Given the description of an element on the screen output the (x, y) to click on. 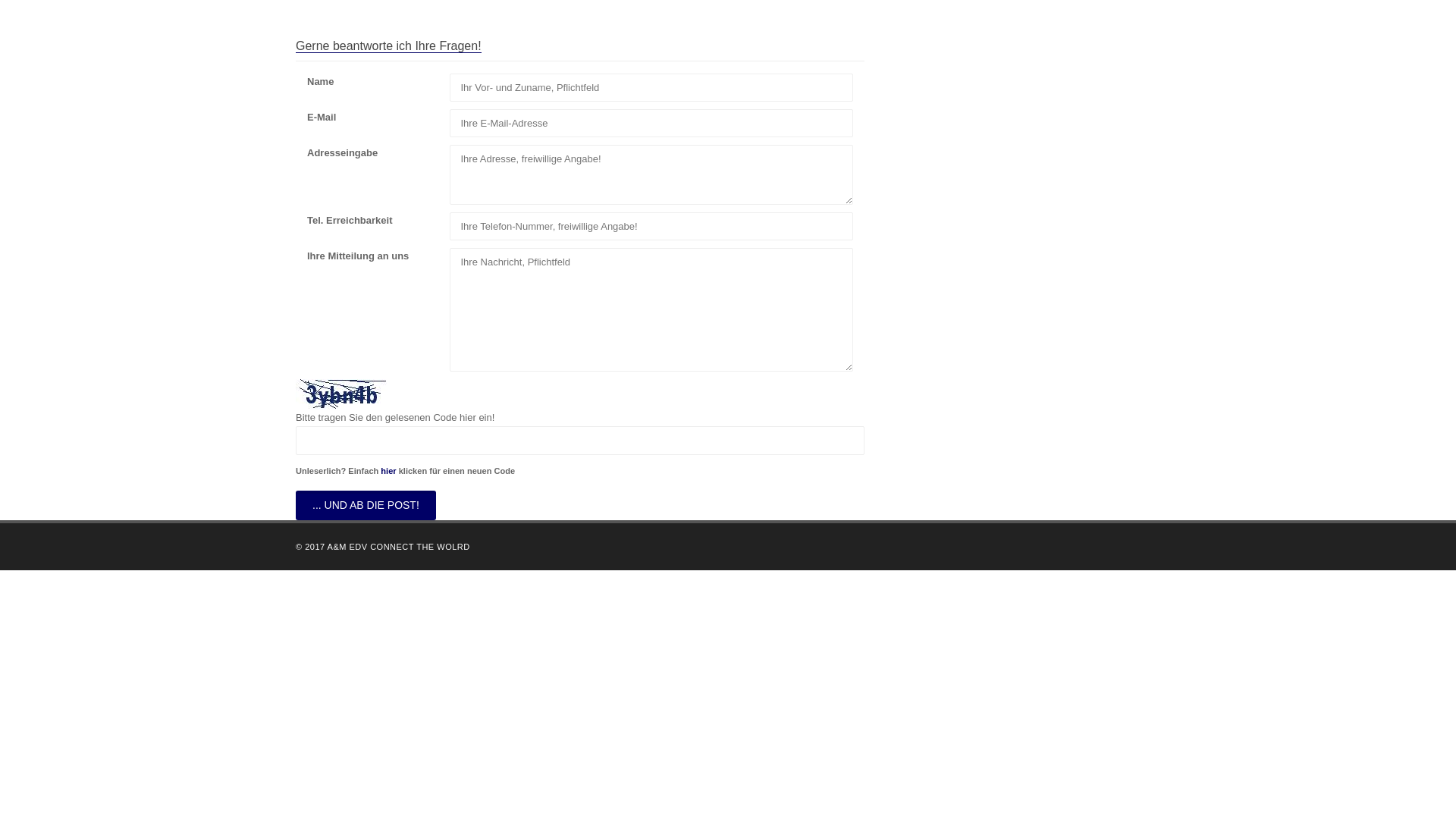
hier Element type: text (387, 470)
... UND AB DIE POST! Element type: text (365, 505)
